Given the description of an element on the screen output the (x, y) to click on. 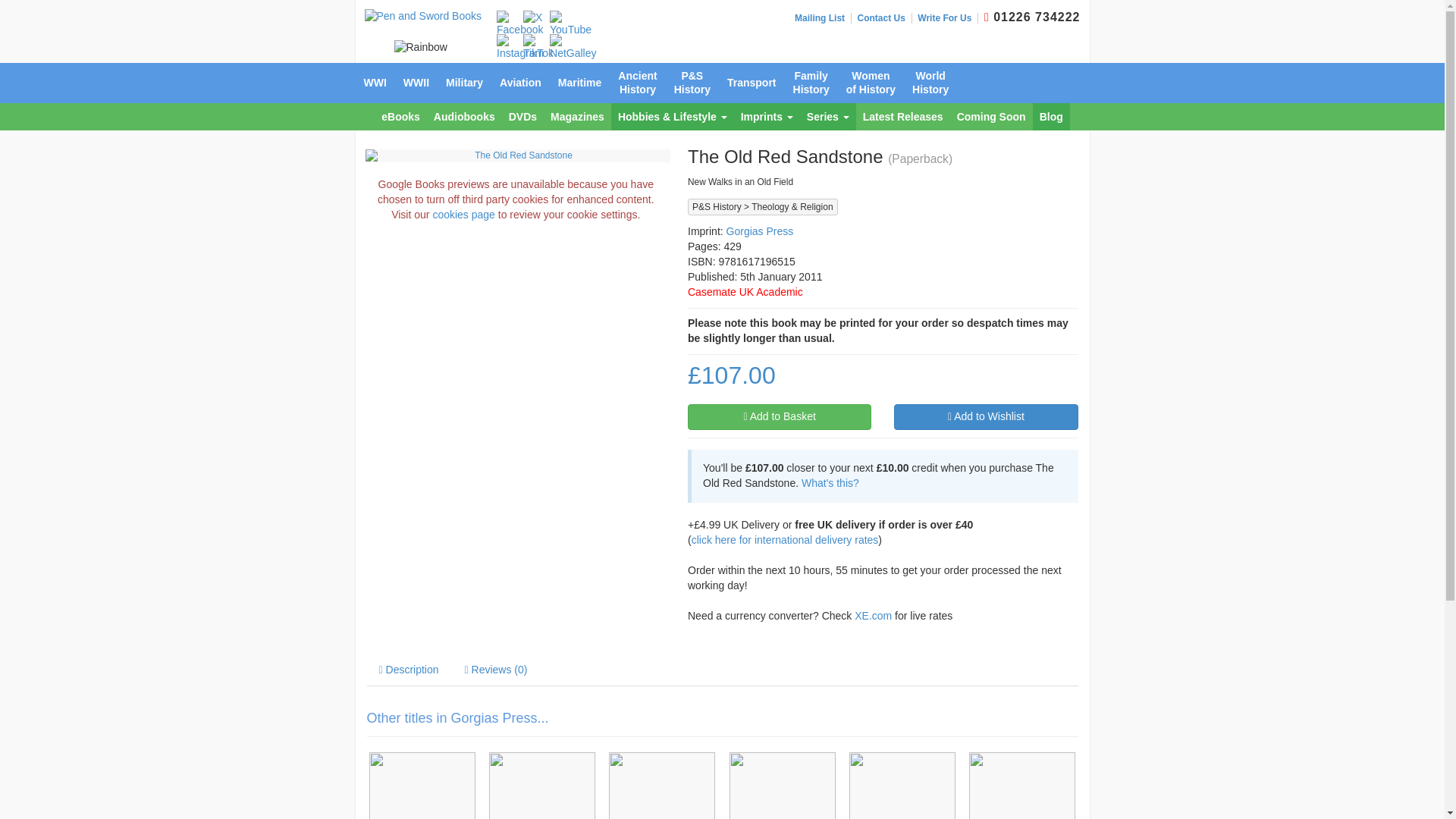
Drei nestorianische Kirchenlieder (541, 785)
Contact Us (884, 18)
YouTube (570, 23)
Write For Us (947, 18)
Instagram (519, 47)
The Sacred Books of Chaldea (1021, 785)
Mailing List (822, 18)
NetGalley (572, 47)
Order Hotline (987, 17)
Was hat Mohammed aus dem Judenthume Aufgenommen? (781, 785)
X (531, 17)
TikTok (537, 47)
Facebook (519, 23)
